Given the description of an element on the screen output the (x, y) to click on. 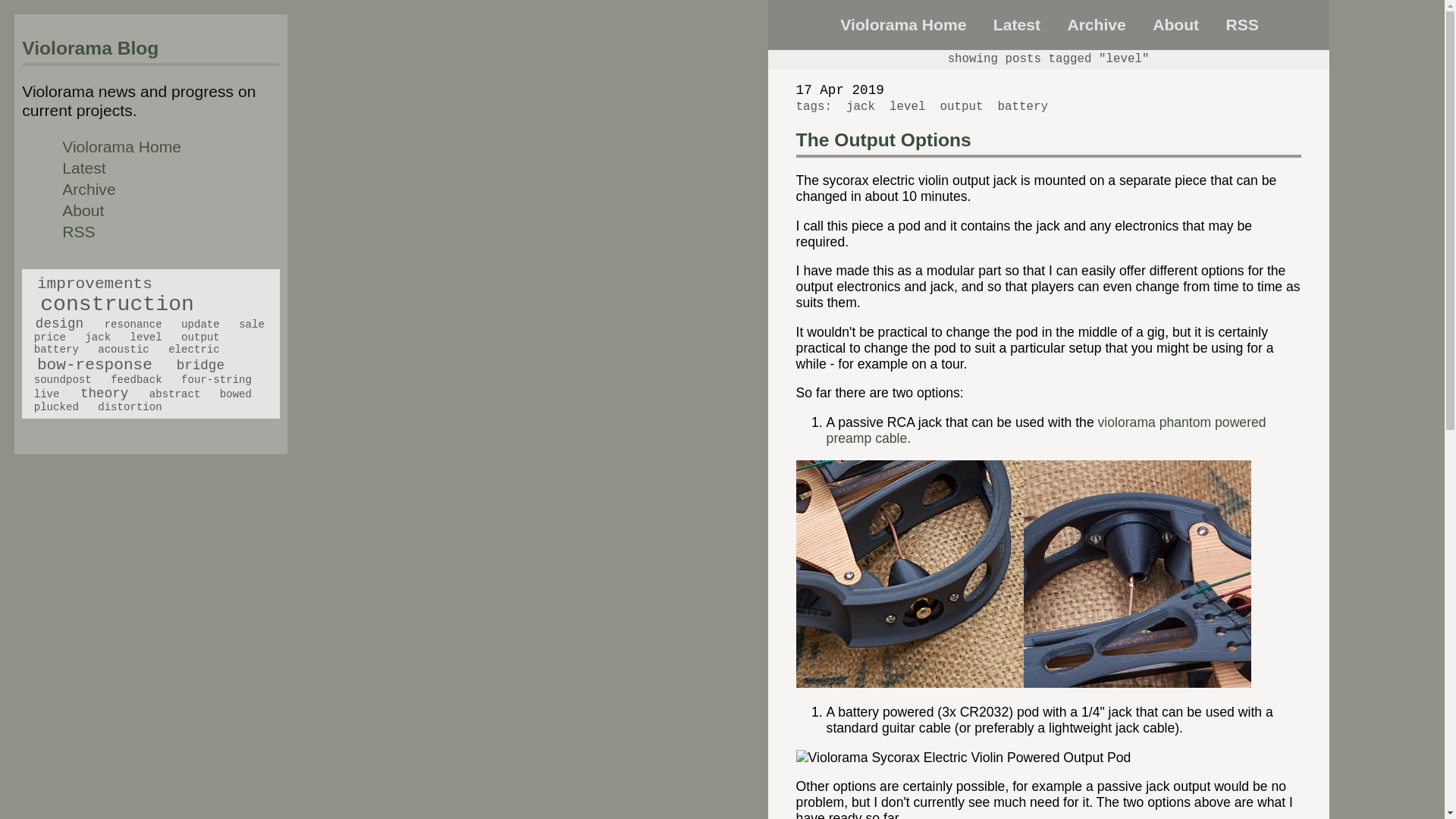
update (199, 324)
Archive (1096, 24)
theory (104, 393)
RSS (78, 231)
jack battery pod (963, 757)
RSS (1241, 24)
Violorama Home (121, 147)
improvements (94, 283)
construction (116, 304)
Violorama Home (903, 24)
